Given the description of an element on the screen output the (x, y) to click on. 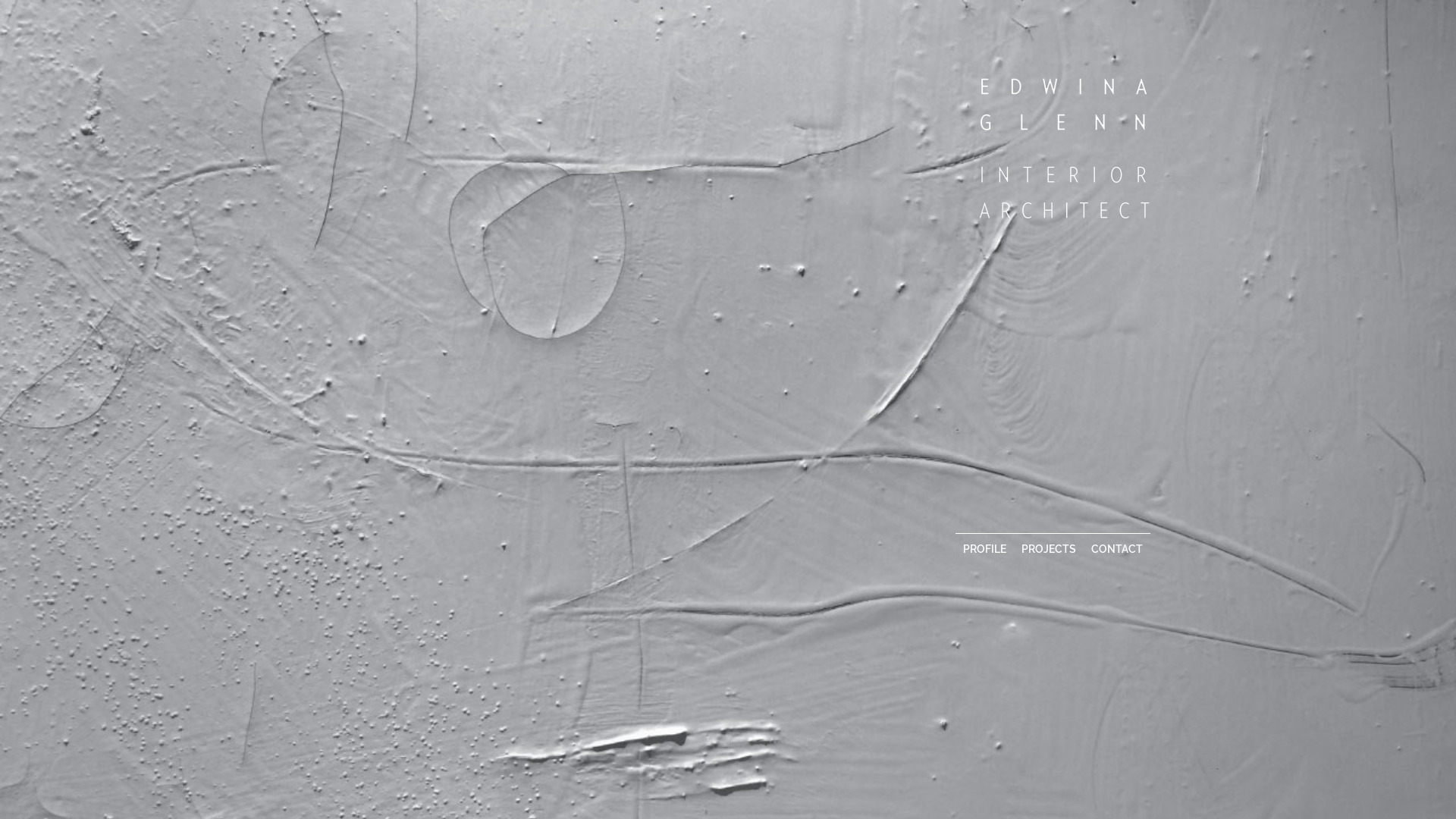
PROFILE Element type: text (984, 548)
CONTACT Element type: text (1116, 548)
PROJECTS Element type: text (1048, 548)
